Given the description of an element on the screen output the (x, y) to click on. 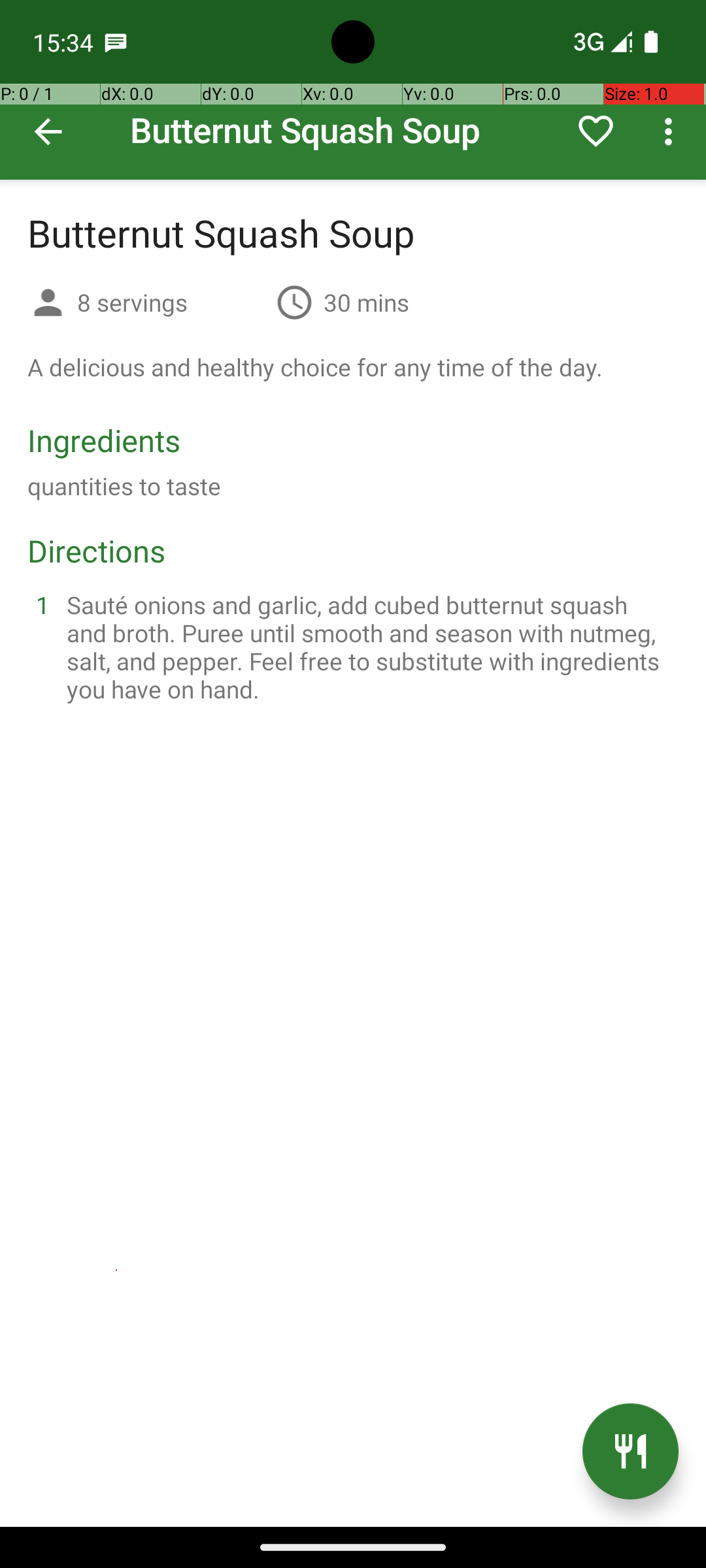
8 servings Element type: android.widget.TextView (170, 301)
30 mins Element type: android.widget.TextView (366, 301)
quantities to taste Element type: android.widget.TextView (123, 485)
Sauté onions and garlic, add cubed butternut squash and broth. Puree until smooth and season with nutmeg, salt, and pepper. Feel free to substitute with ingredients you have on hand. Element type: android.widget.TextView (368, 646)
